Given the description of an element on the screen output the (x, y) to click on. 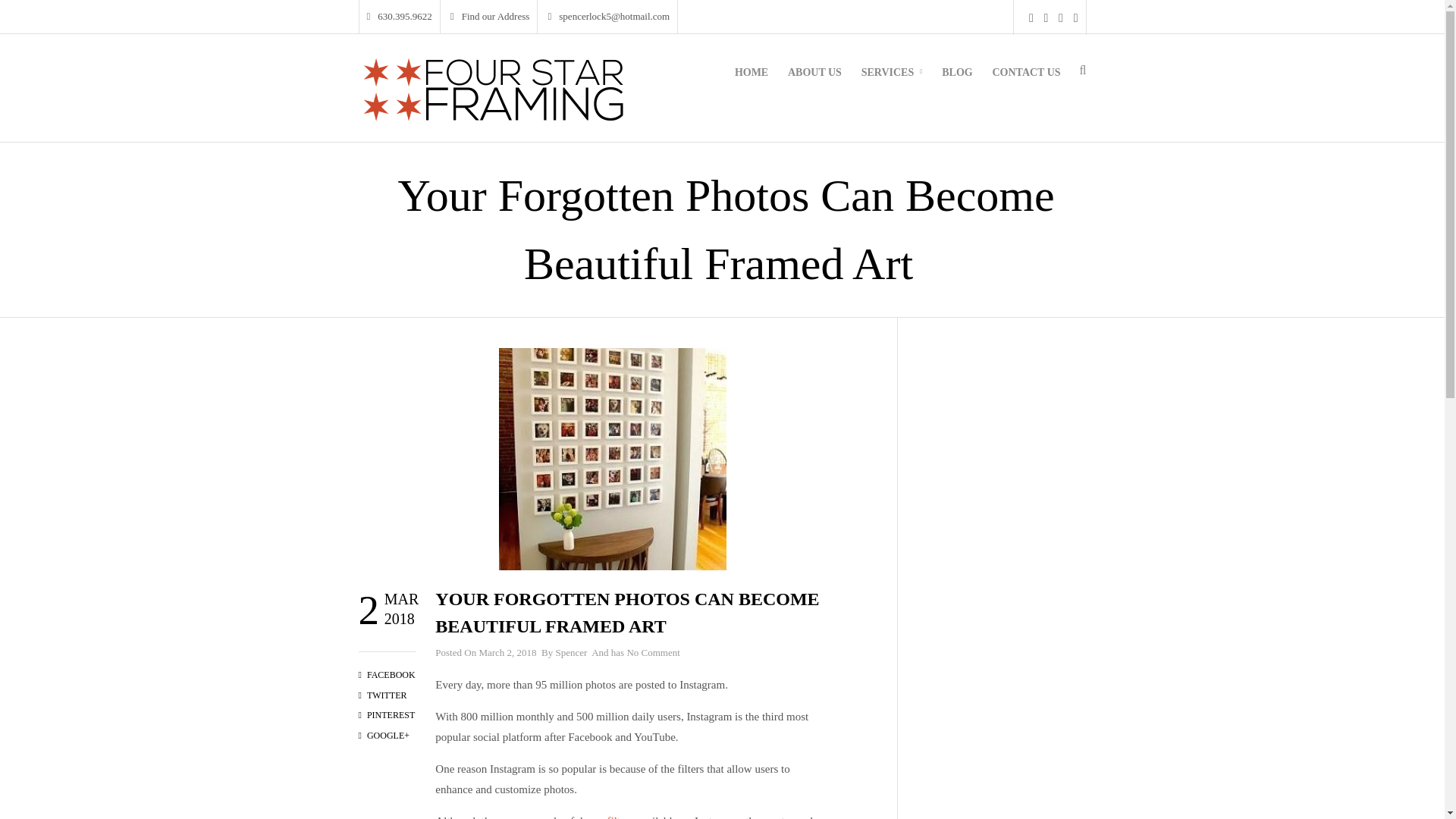
BLOG (956, 82)
CONTACT US (1025, 82)
Find our Address (489, 16)
filters (620, 816)
ABOUT US (814, 82)
SERVICES (891, 82)
630.395.9622 (399, 16)
PINTEREST (386, 715)
HOME (751, 82)
TWITTER (382, 695)
YOUR FORGOTTEN PHOTOS CAN BECOME BEAUTIFUL FRAMED ART (626, 612)
FACEBOOK (386, 674)
Spencer (570, 652)
No Comment (652, 652)
Your Forgotten Photos Can Become Beautiful Framed Art (626, 612)
